Given the description of an element on the screen output the (x, y) to click on. 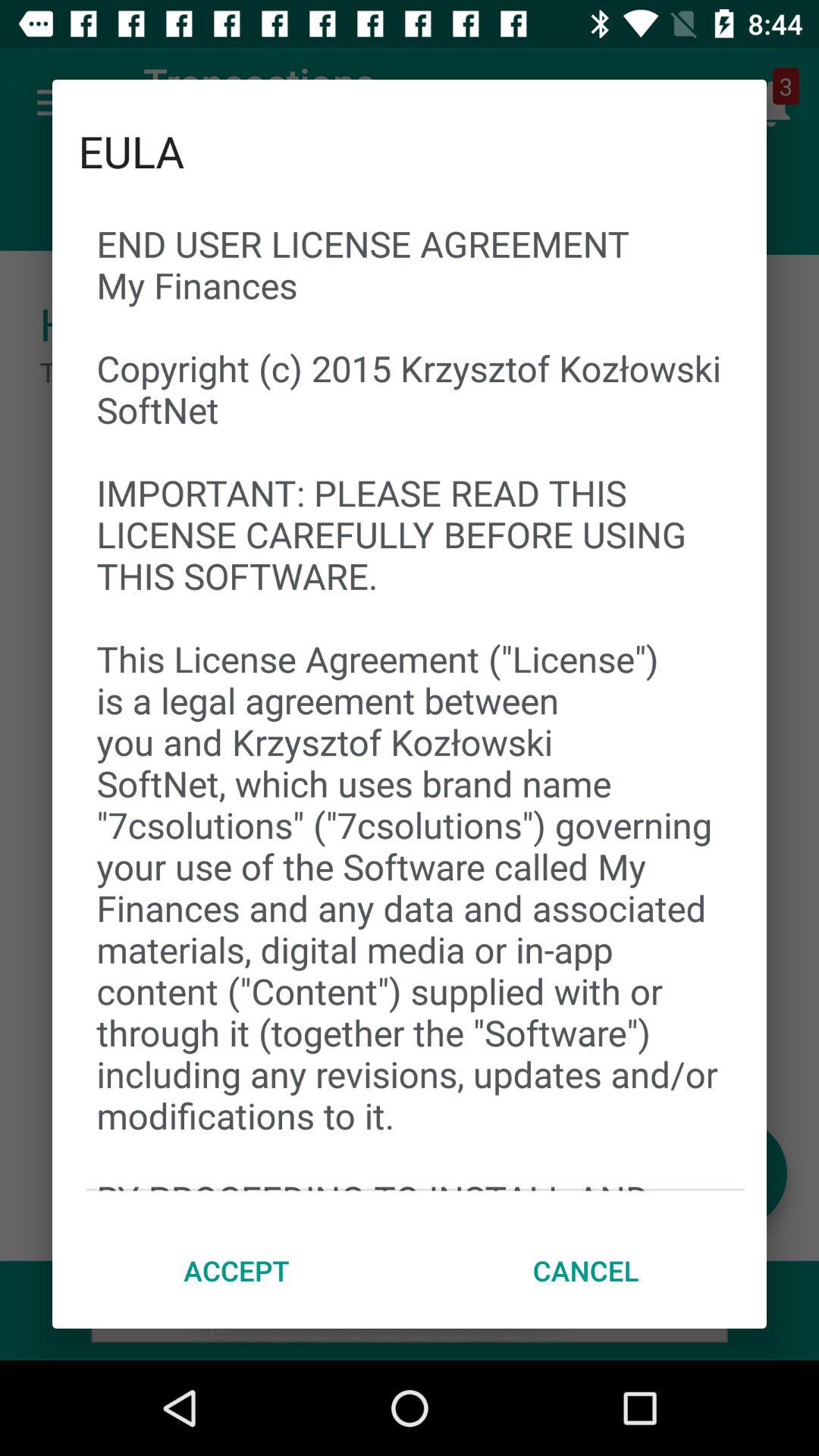
open the item to the left of the cancel item (236, 1270)
